Given the description of an element on the screen output the (x, y) to click on. 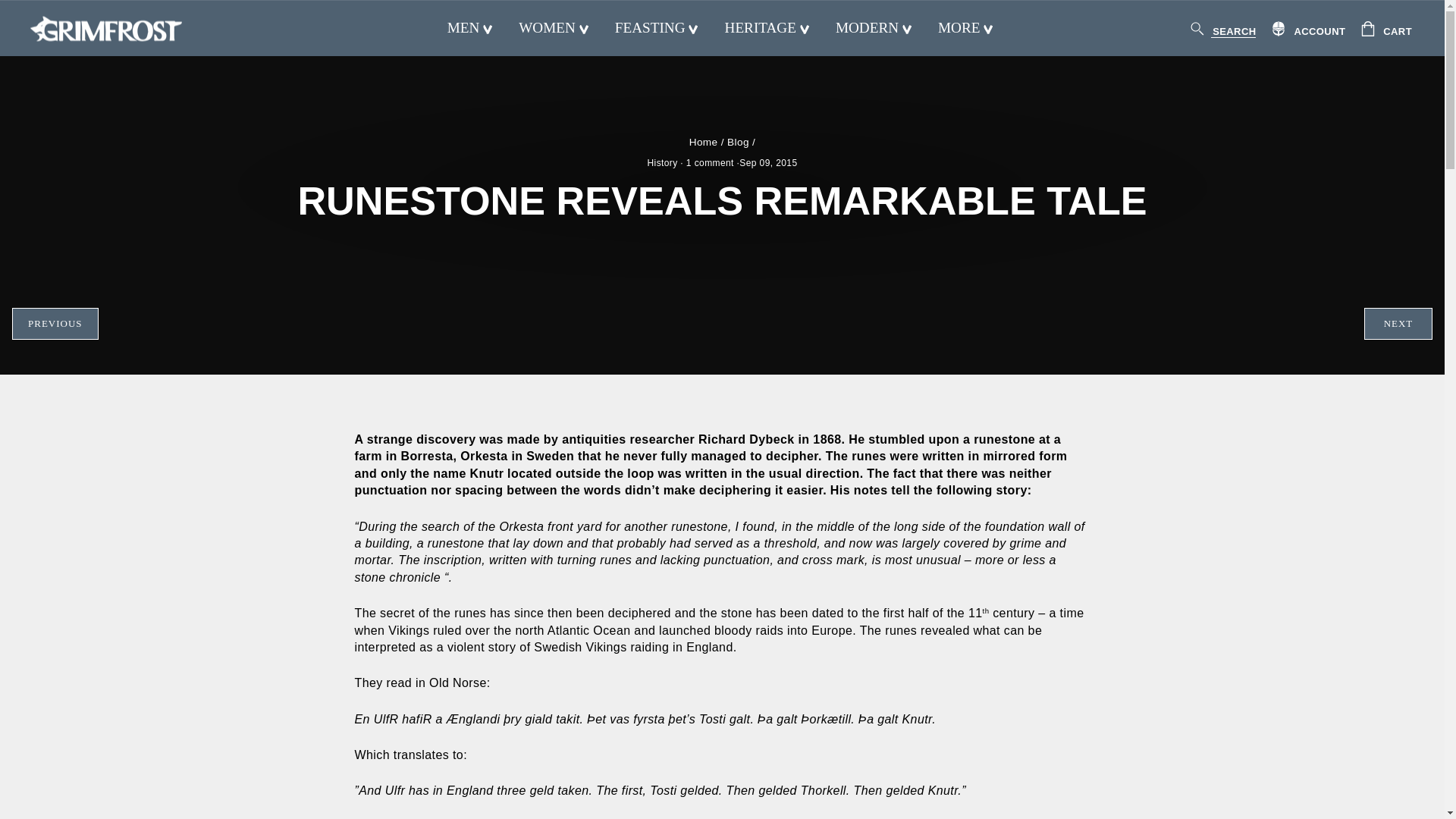
Back to the frontpage (702, 142)
